Given the description of an element on the screen output the (x, y) to click on. 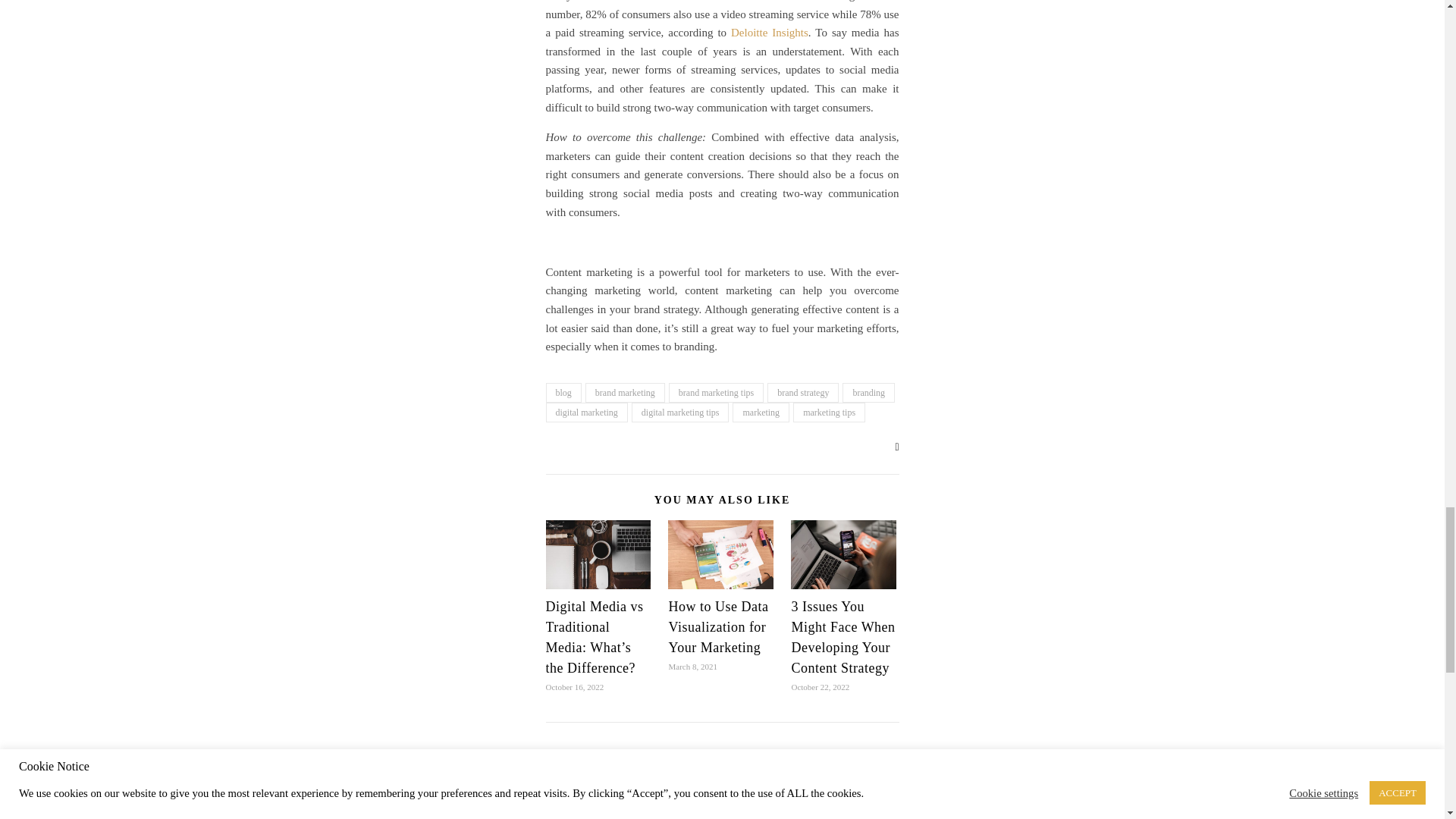
brand marketing (625, 392)
Deloitte Insights (769, 32)
blog (563, 392)
